Given the description of an element on the screen output the (x, y) to click on. 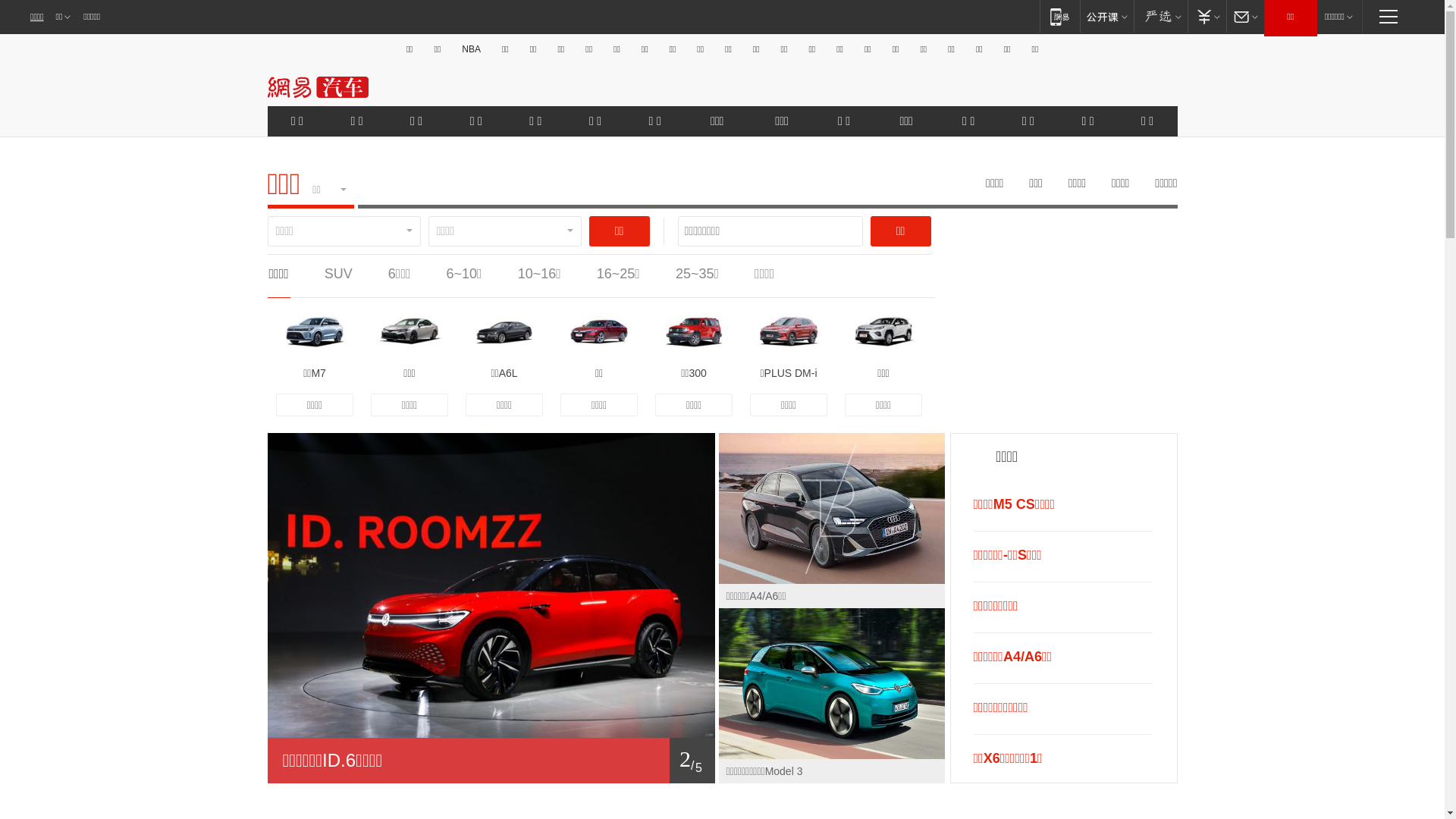
SUV Element type: text (338, 273)
1/ 5 Element type: text (490, 760)
NBA Element type: text (471, 48)
